Given the description of an element on the screen output the (x, y) to click on. 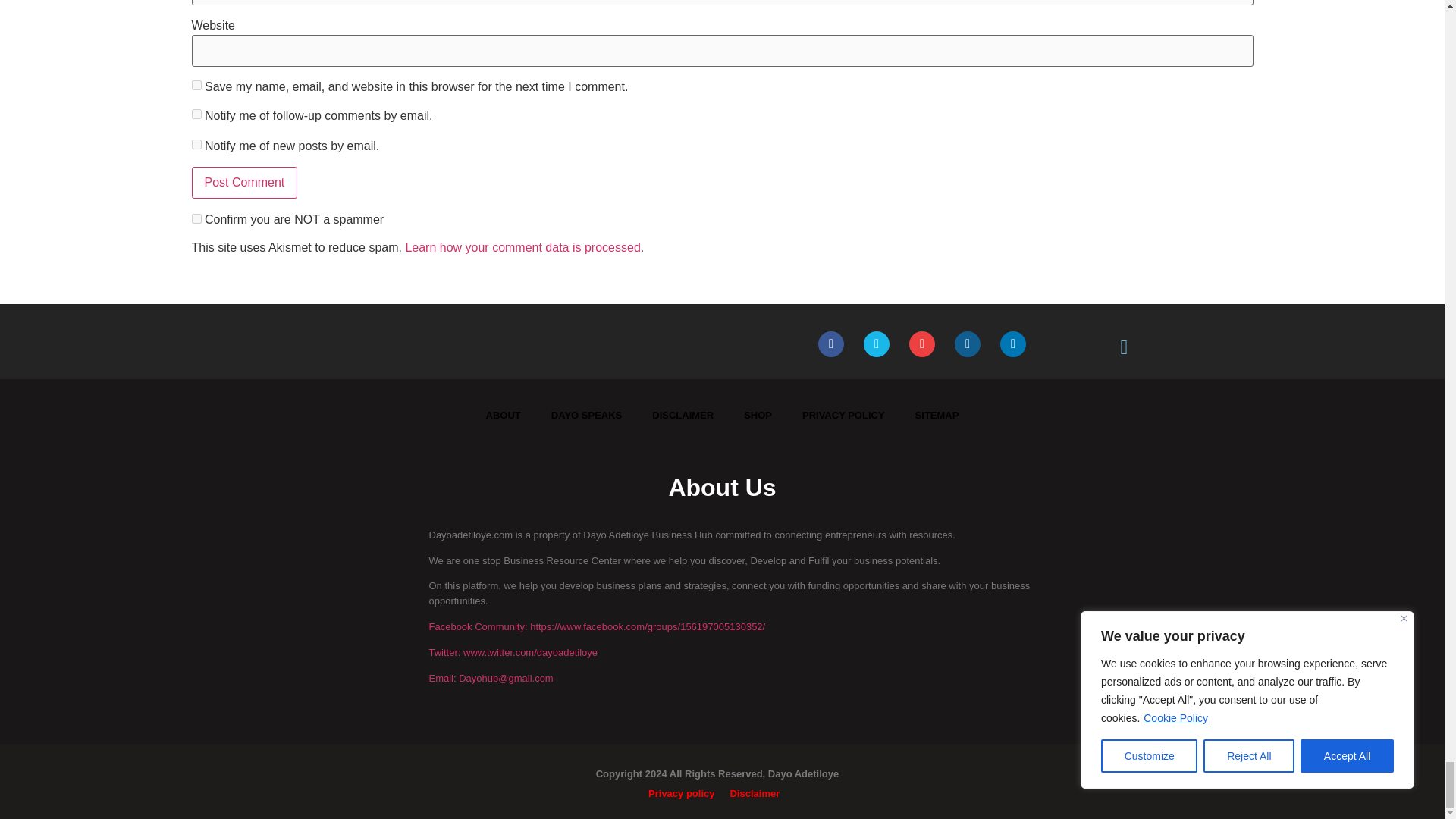
yes (195, 85)
Post Comment (243, 183)
subscribe (195, 144)
on (195, 218)
subscribe (195, 113)
